Given the description of an element on the screen output the (x, y) to click on. 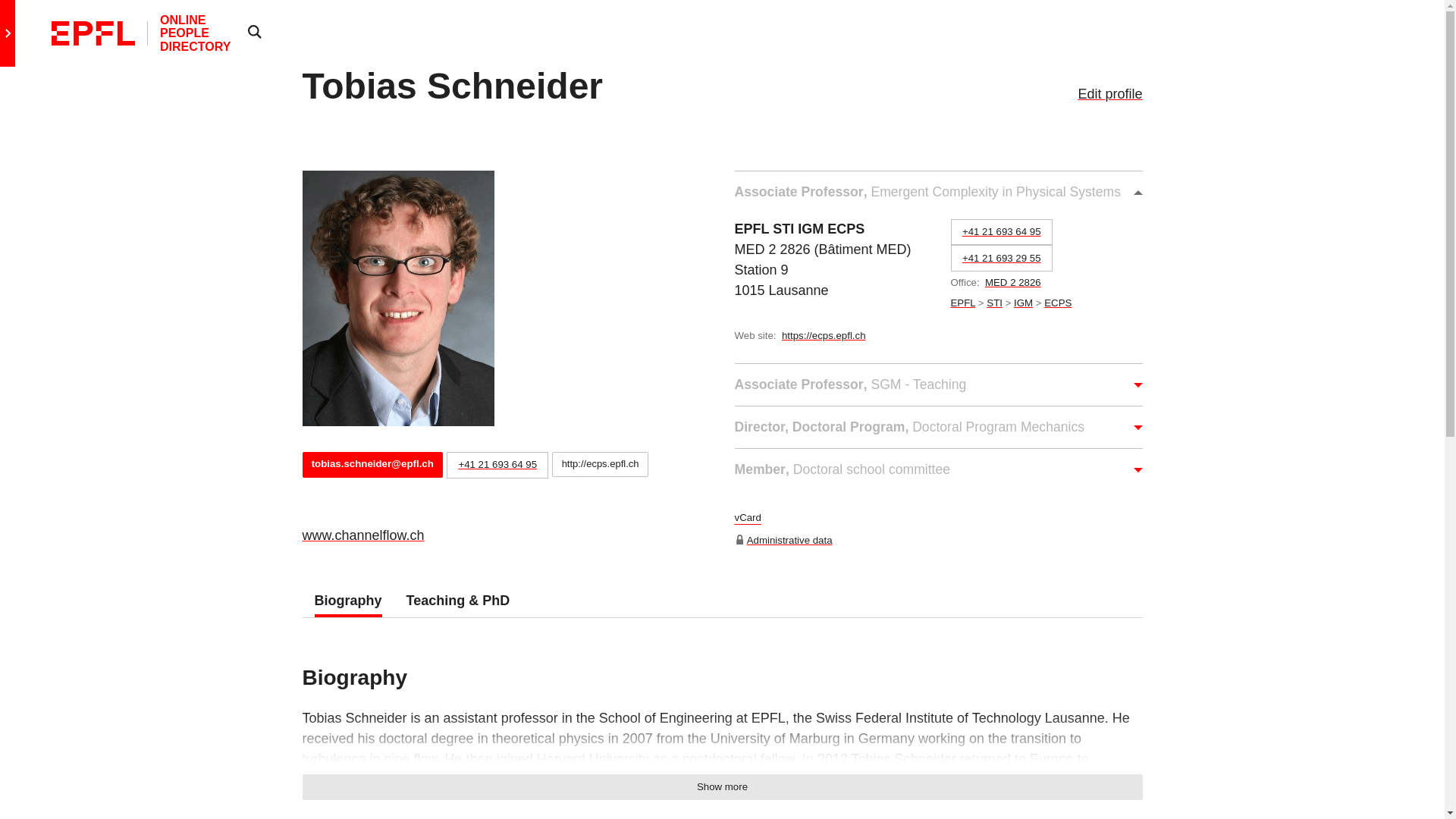
Director, Doctoral Program, Doctoral Program Mechanics (937, 426)
Administrative data (789, 540)
Edit profile (1109, 93)
IGM (1022, 302)
EPFL (962, 302)
STI (995, 302)
vCard (746, 519)
ECPS (1057, 302)
www.channelflow.ch (362, 534)
Associate Professor, SGM - Teaching (937, 384)
